Given the description of an element on the screen output the (x, y) to click on. 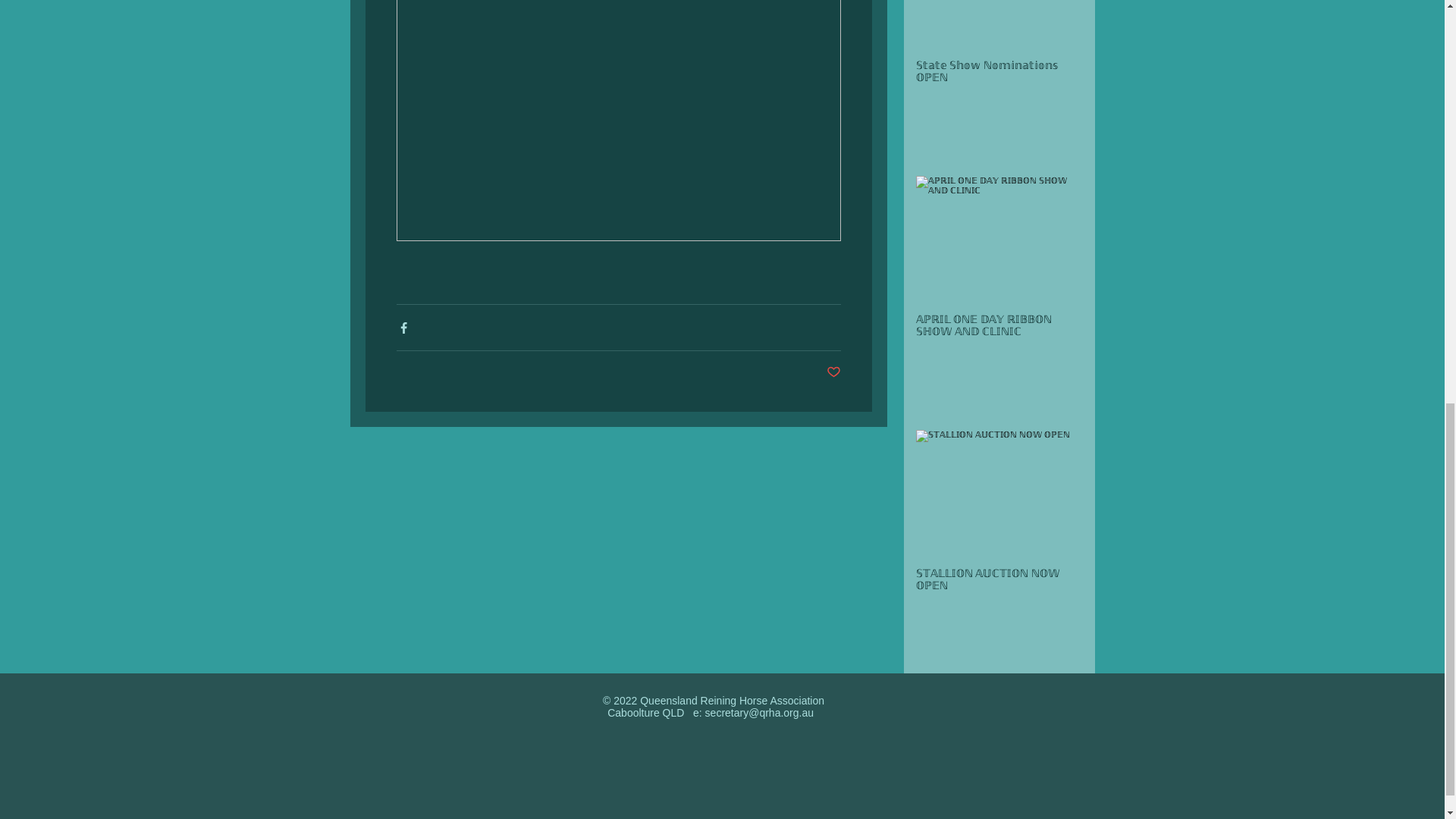
Post not marked as liked (834, 372)
